Given the description of an element on the screen output the (x, y) to click on. 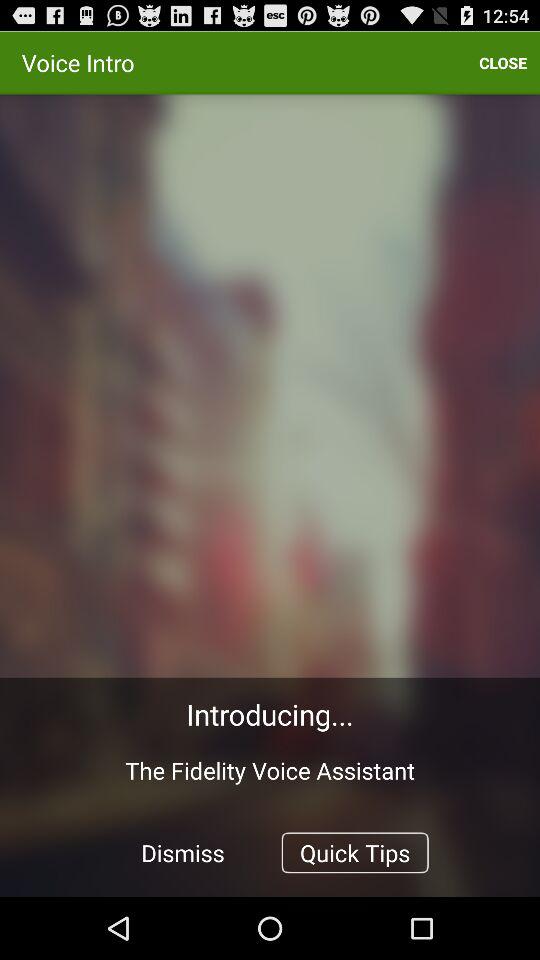
swipe until dismiss icon (183, 852)
